Given the description of an element on the screen output the (x, y) to click on. 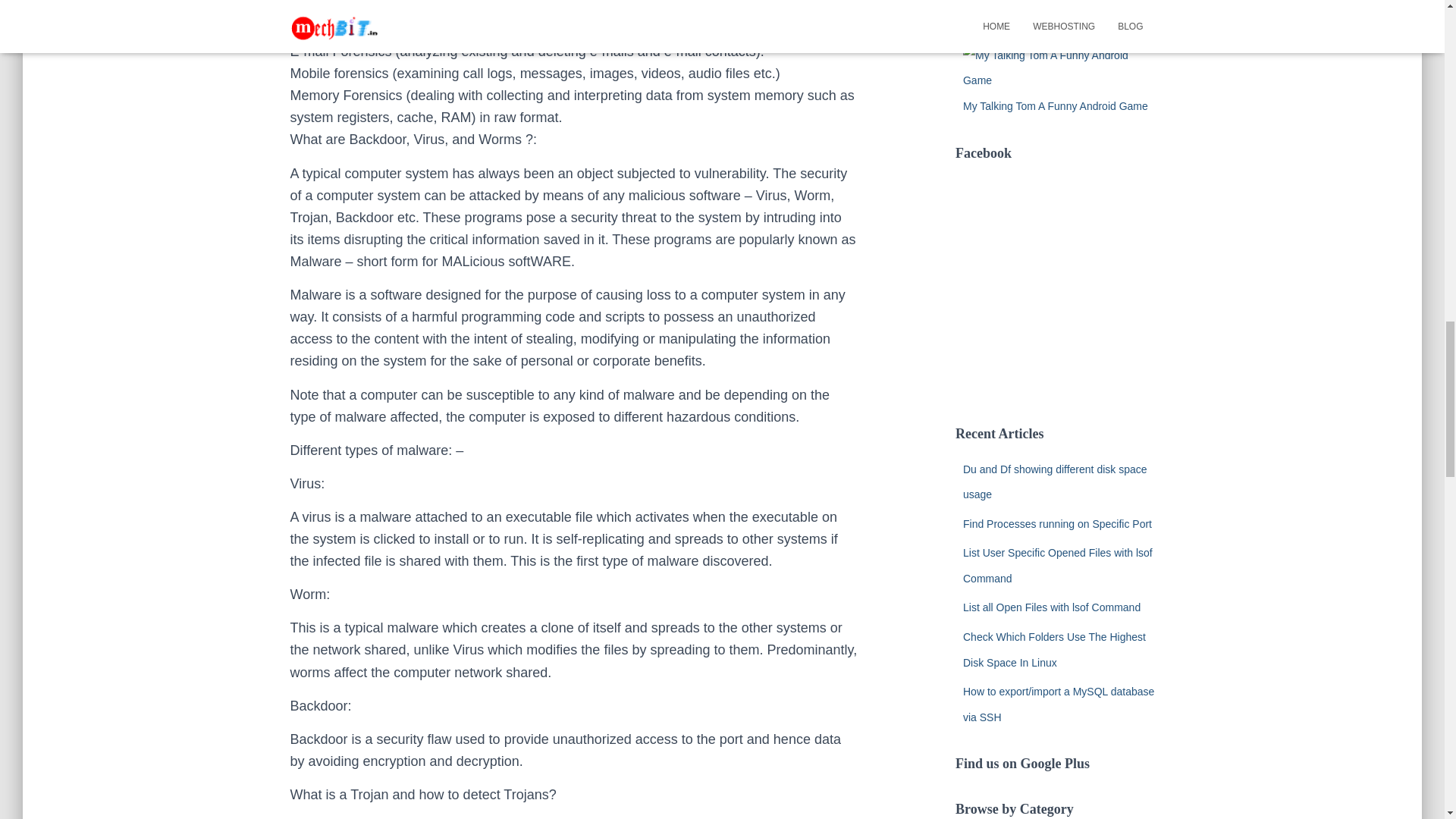
List all Open Files with lsof Command (1051, 607)
Find Processes running on Specific Port (1056, 523)
List User Specific Opened Files with lsof Command (1057, 565)
My Talking Tom A Funny Android Game (1055, 105)
Du and Df showing different disk space usage (1054, 481)
Check Which Folders Use The Highest Disk Space In Linux (1053, 649)
